Given the description of an element on the screen output the (x, y) to click on. 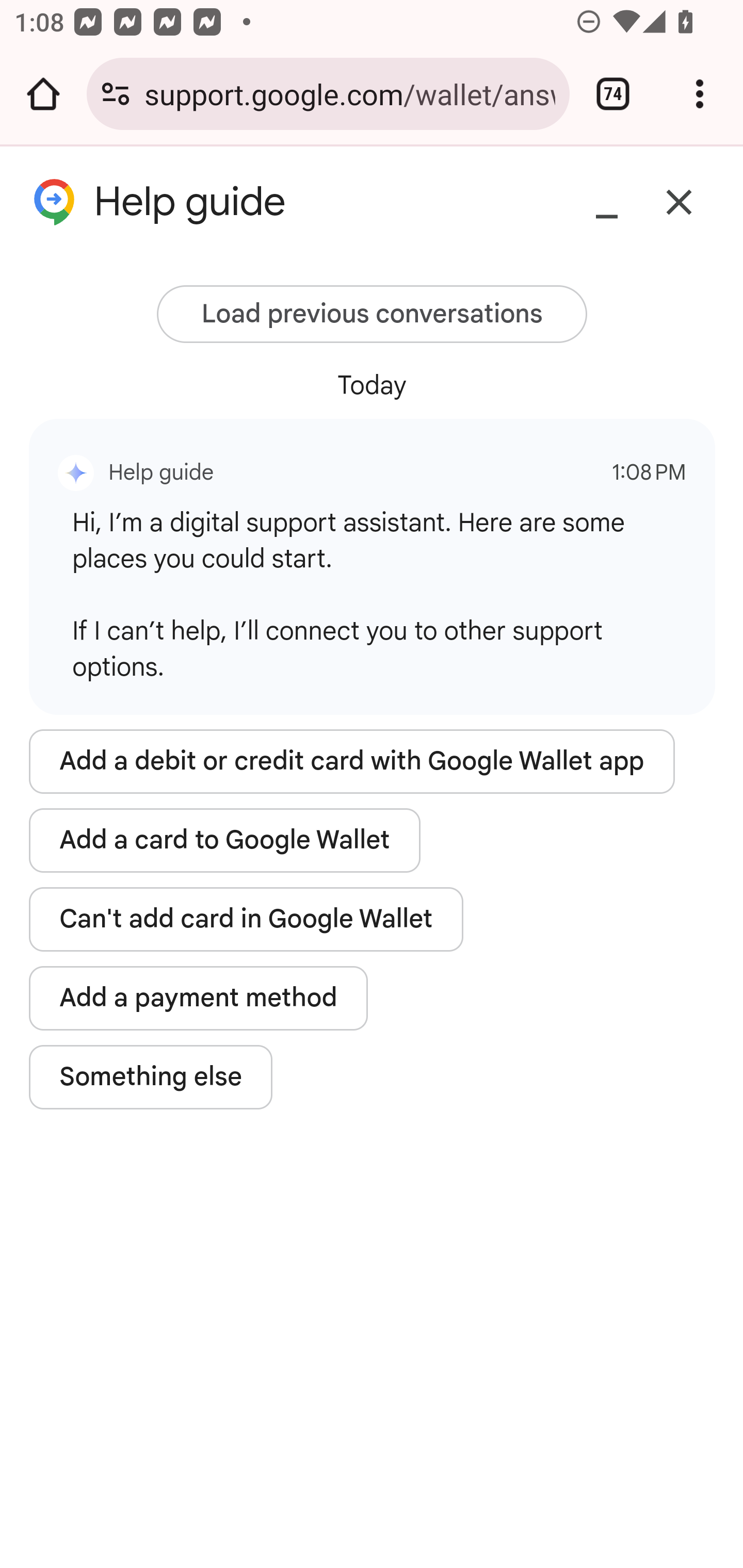
Open the home page (43, 93)
Connection is secure (115, 93)
Switch or close tabs (612, 93)
Customize and control Google Chrome (699, 93)
Main menu (58, 195)
Google Wallet Help (292, 197)
Minimize (607, 202)
Close (679, 202)
Load previous conversations (371, 314)
Add a debit or credit card with Google Wallet app (351, 761)
Add a card to Google Wallet (224, 839)
Can't add card in Google Wallet (245, 919)
Add a payment method (198, 997)
Something else (151, 1076)
